Given the description of an element on the screen output the (x, y) to click on. 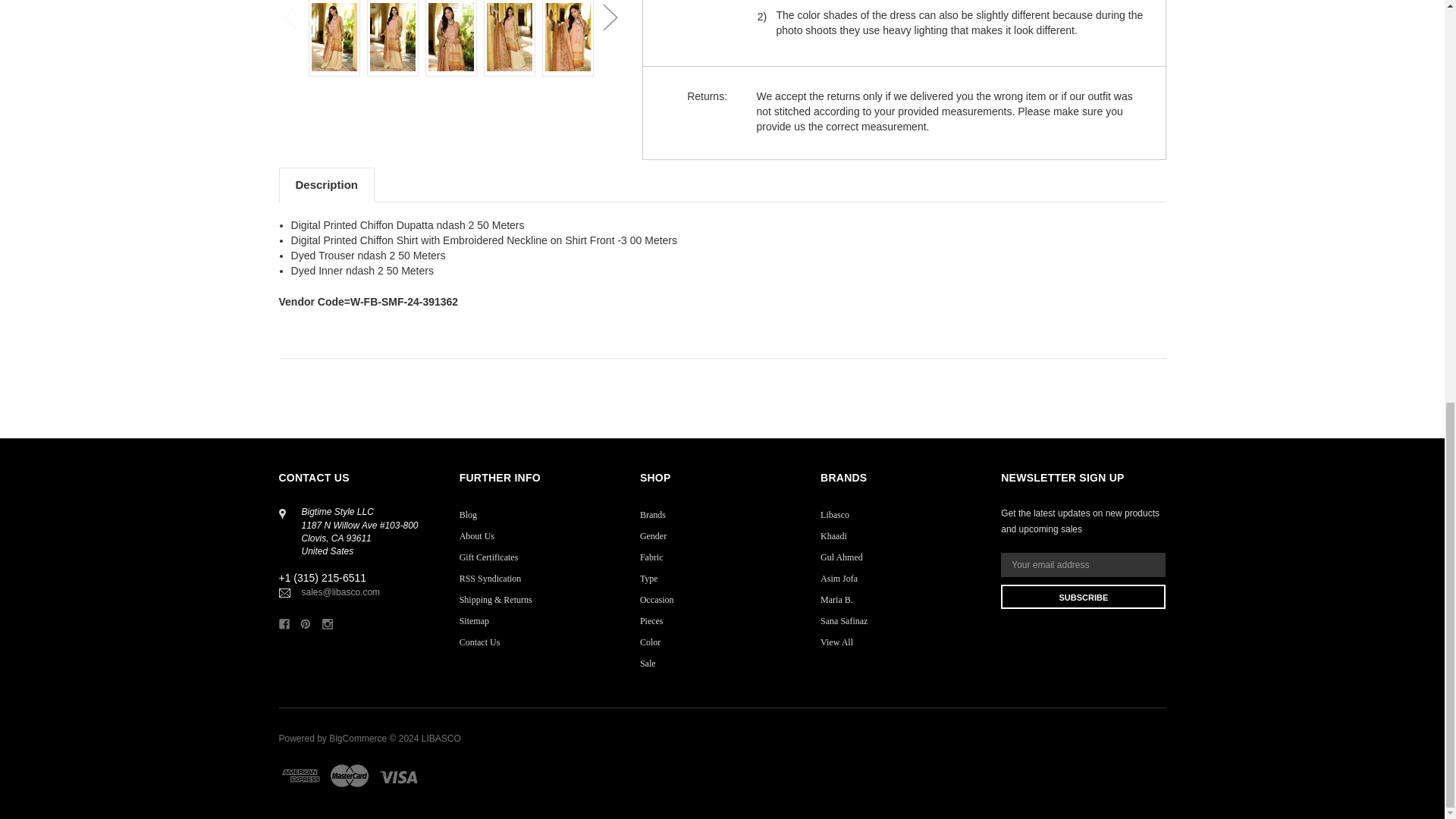
Subscribe (1083, 596)
